Given the description of an element on the screen output the (x, y) to click on. 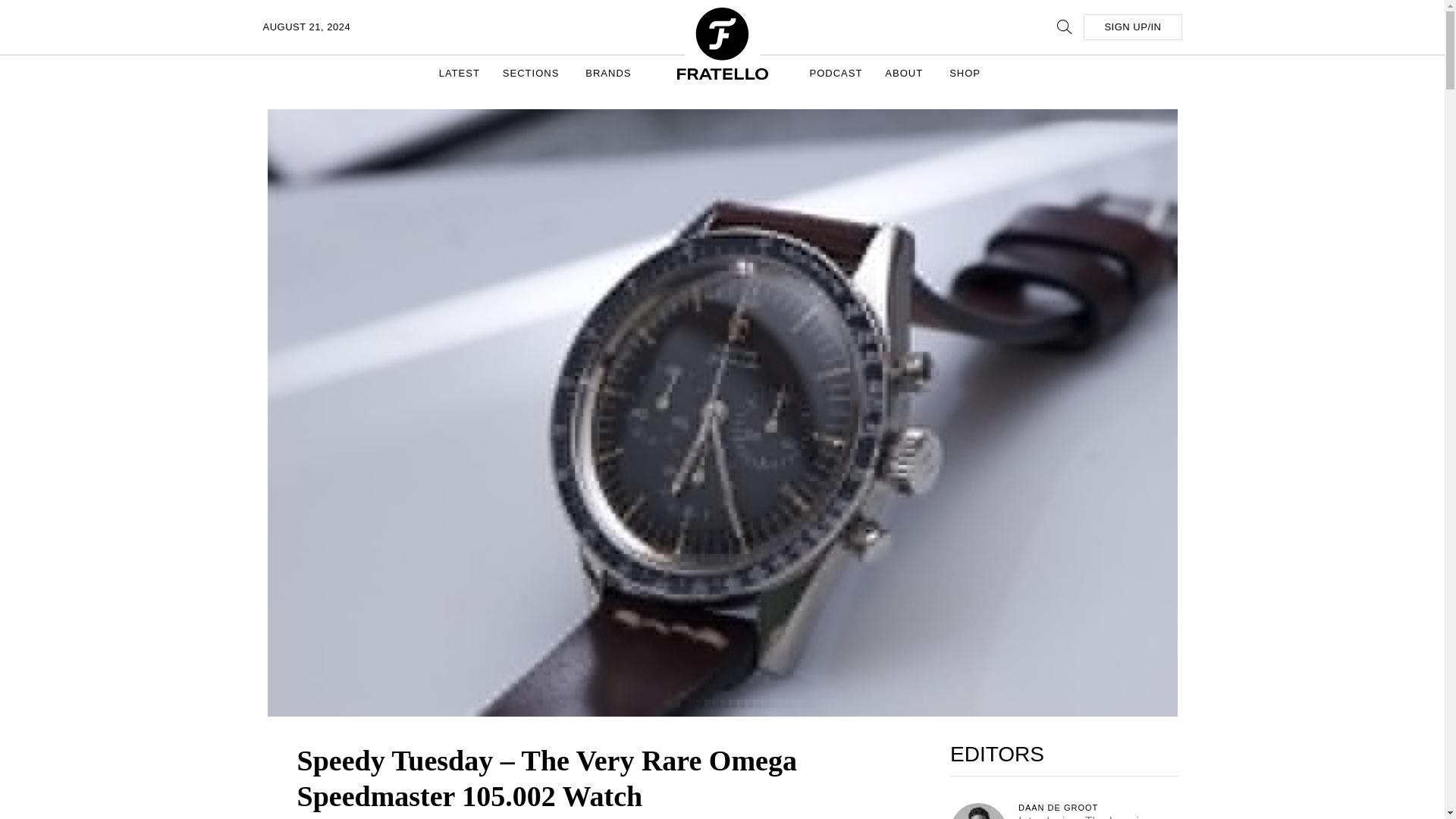
BRANDS (609, 72)
SECTIONS (532, 72)
LATEST (460, 72)
